Given the description of an element on the screen output the (x, y) to click on. 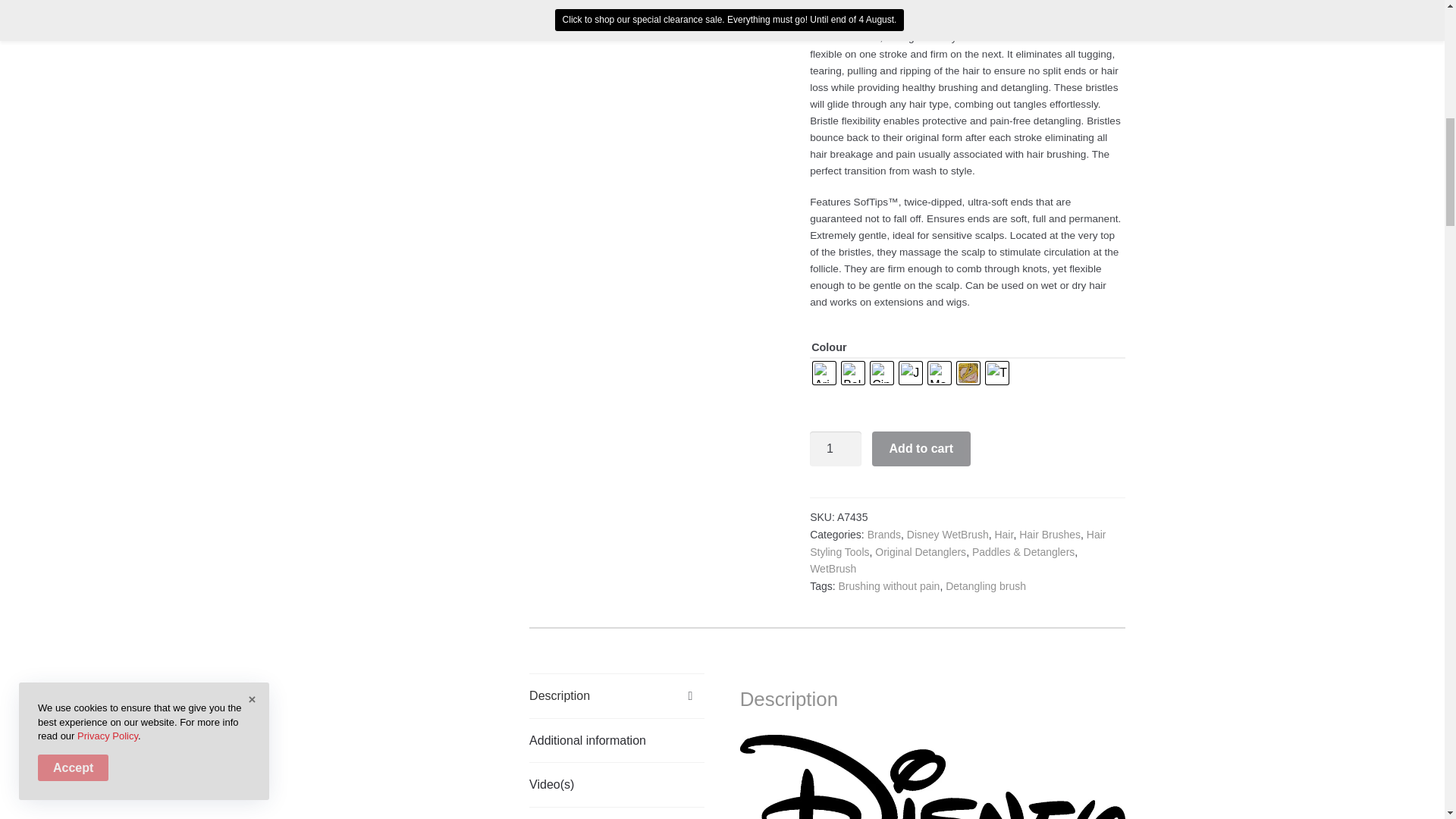
Cinderella (881, 372)
Tiana (997, 372)
Moana (939, 372)
Jasmine (910, 372)
Rapunzel (967, 372)
Belle (852, 372)
Ariel (823, 372)
1 (835, 448)
